Given the description of an element on the screen output the (x, y) to click on. 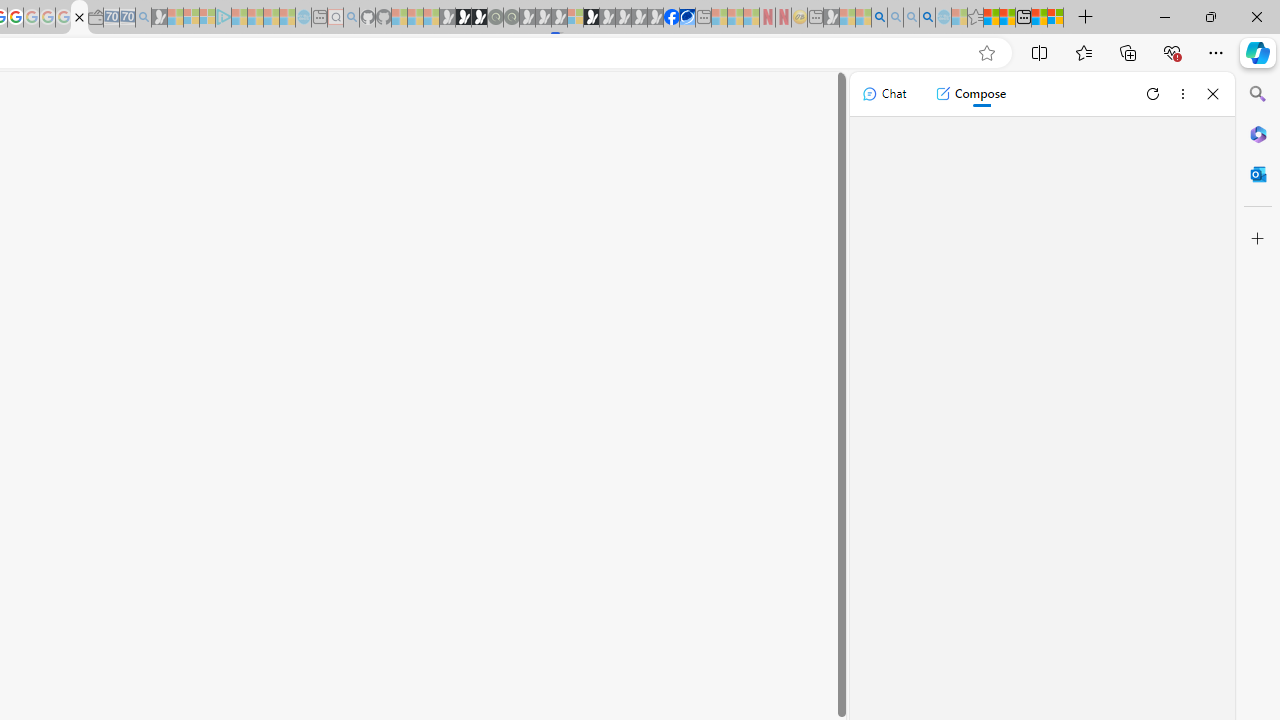
Play Zoo Boom in your browser | Games from Microsoft Start (463, 17)
MSN - Sleeping (831, 17)
Wallet - Sleeping (95, 17)
